Given the description of an element on the screen output the (x, y) to click on. 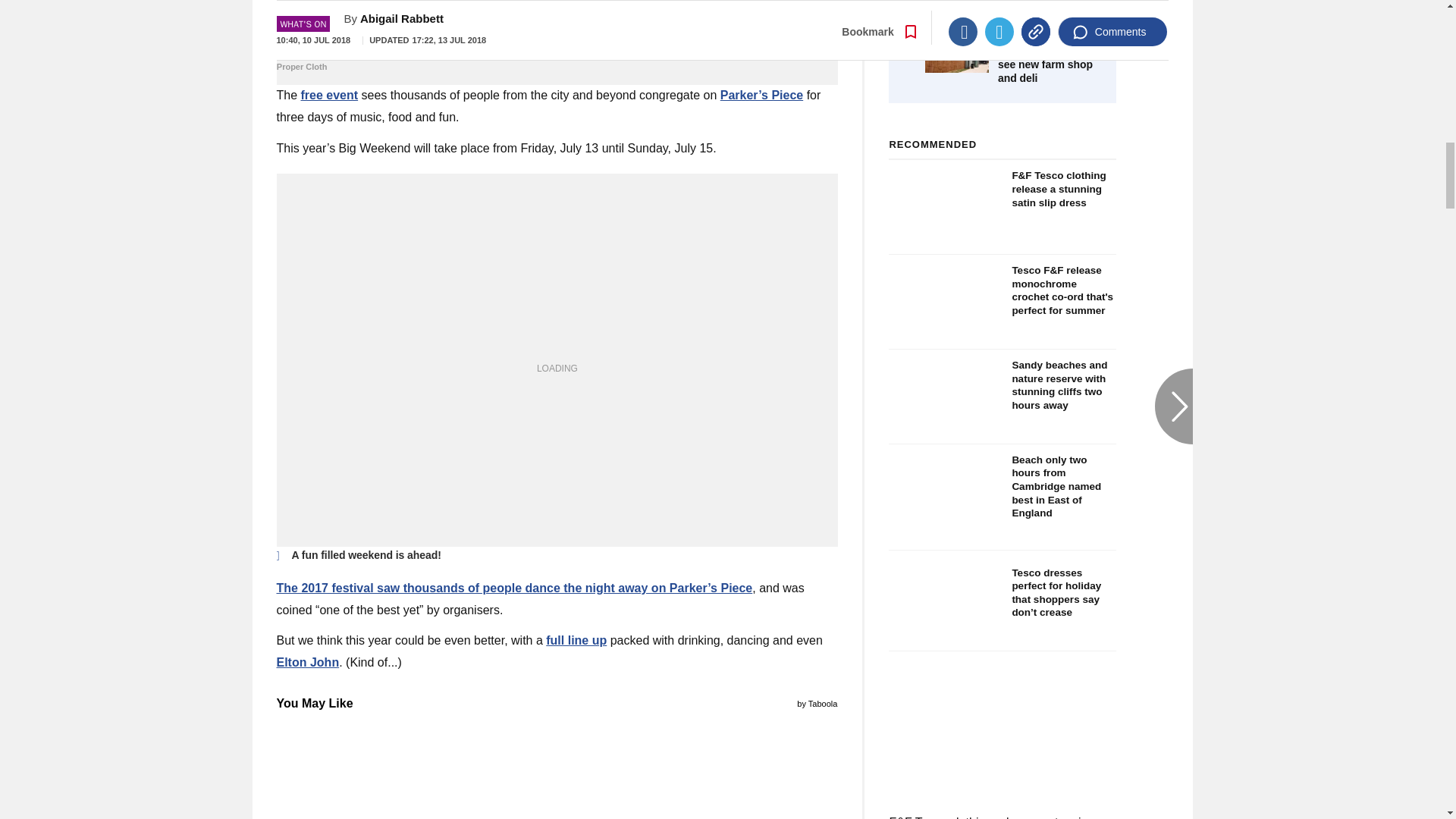
The shirt company disrupting retail (557, 58)
